Given the description of an element on the screen output the (x, y) to click on. 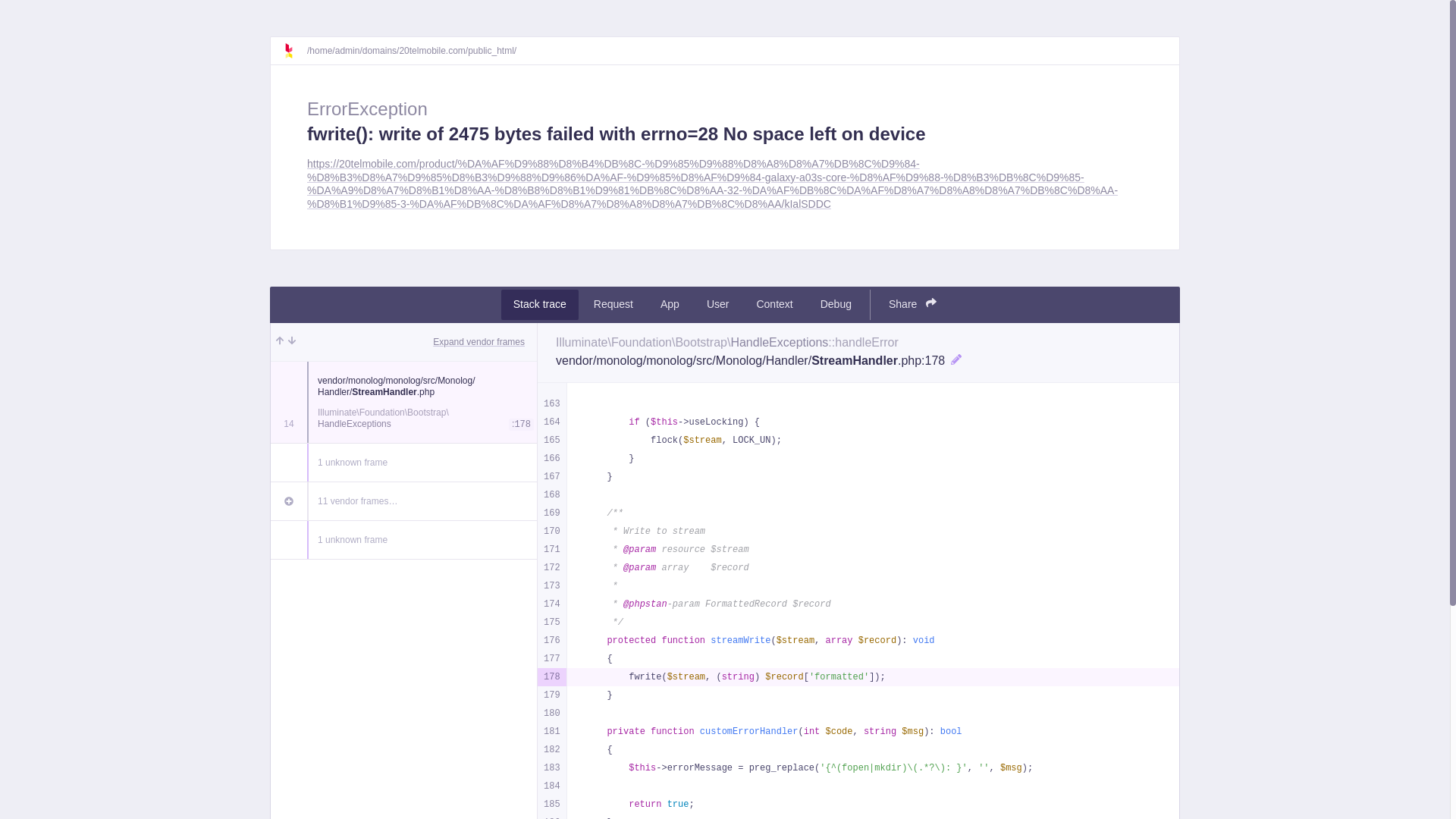
Expand vendor frames Element type: text (478, 341)
Stack trace Element type: text (539, 304)
Request Element type: text (613, 304)
Debug Element type: text (835, 304)
Share Element type: text (912, 304)
App Element type: text (669, 304)
Frame up (Key:K) Element type: hover (279, 341)
Context Element type: text (773, 304)
Frame down (Key:J) Element type: hover (291, 341)
User Element type: text (717, 304)
Ignition docs Element type: hover (294, 50)
